Given the description of an element on the screen output the (x, y) to click on. 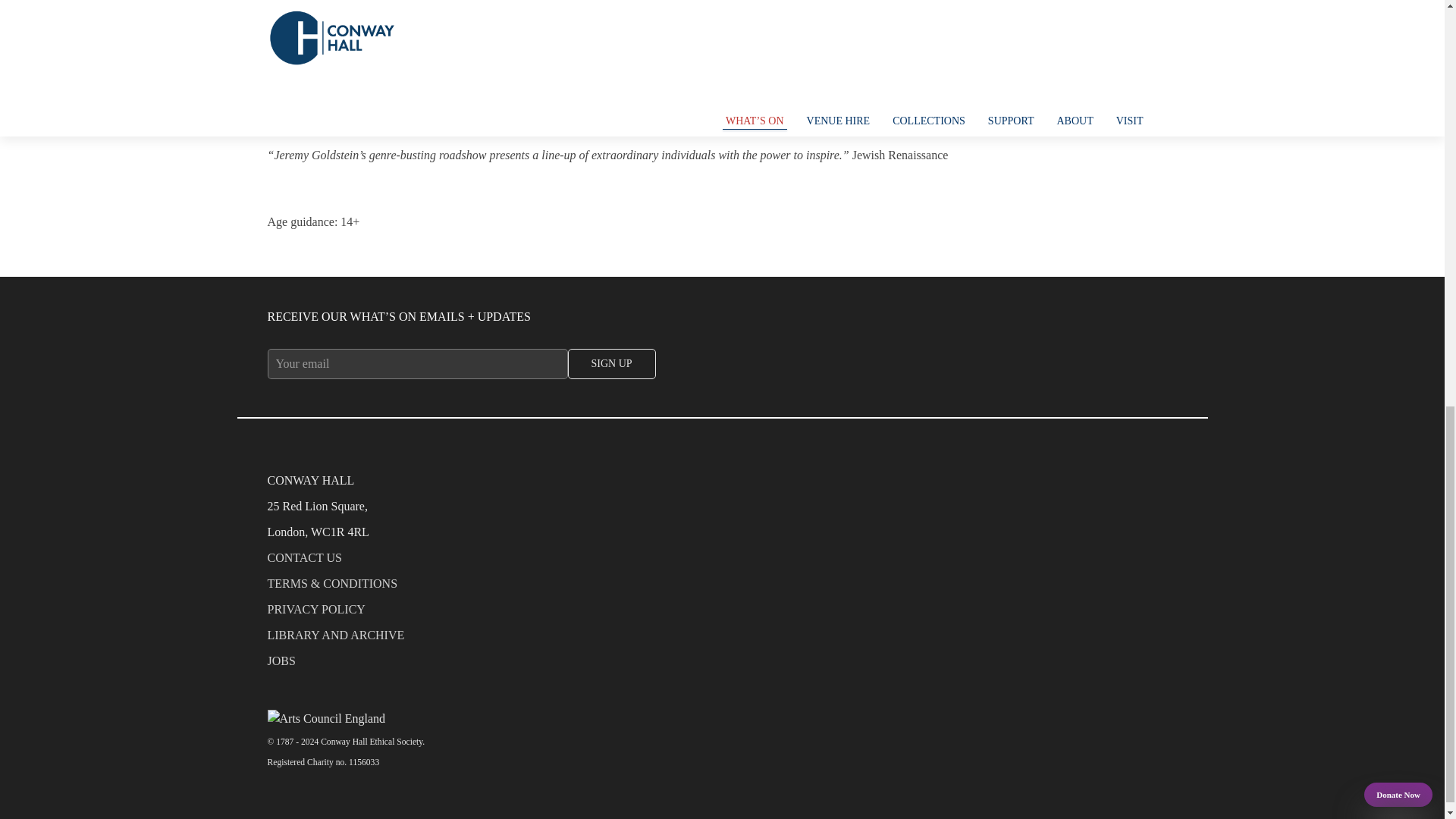
Sign Up (611, 363)
CONTACT US (721, 561)
JOBS (721, 664)
Sign Up (611, 363)
LIBRARY AND ARCHIVE (721, 638)
PRIVACY POLICY (721, 613)
